Given the description of an element on the screen output the (x, y) to click on. 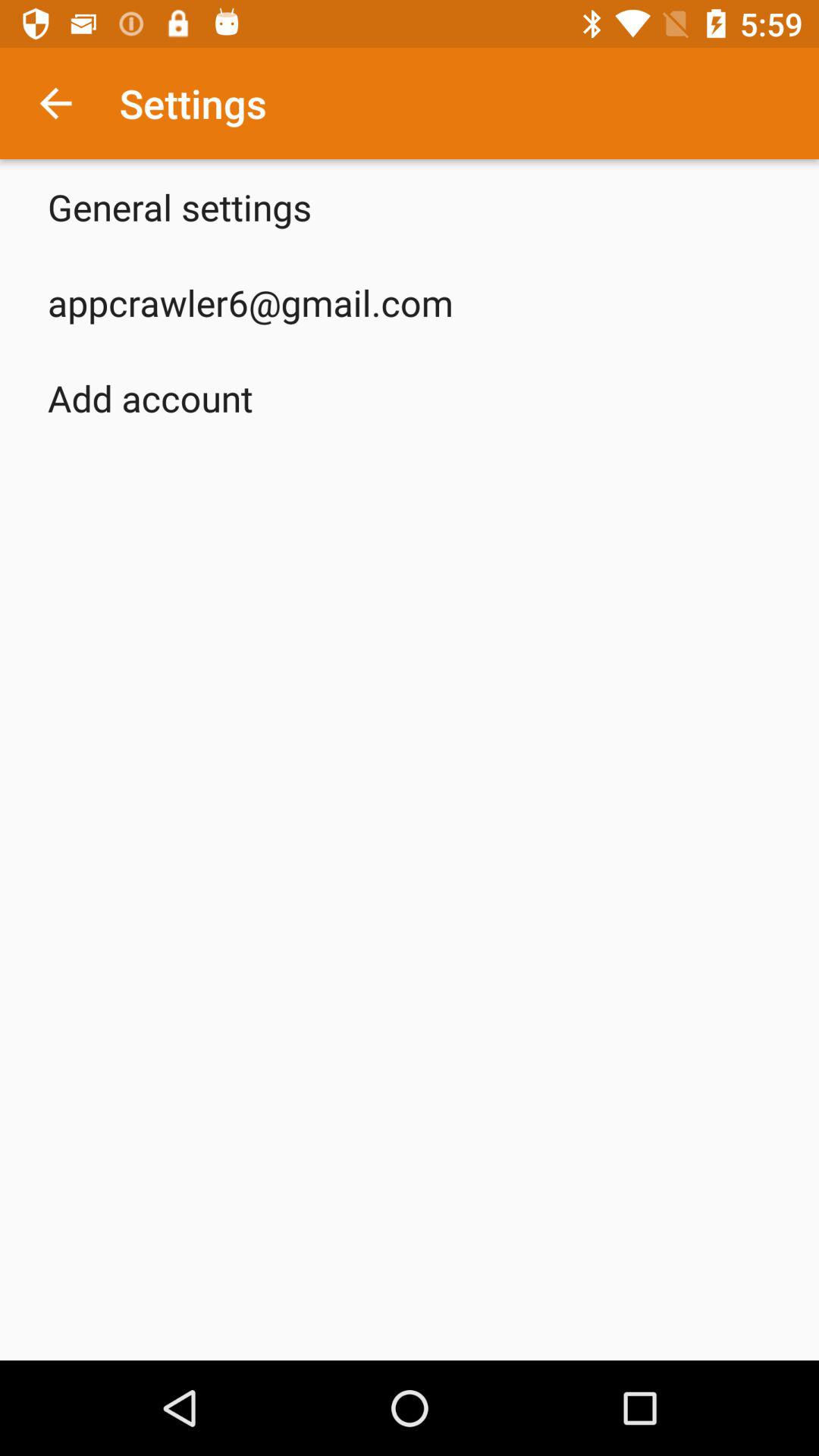
swipe until the add account icon (150, 397)
